Given the description of an element on the screen output the (x, y) to click on. 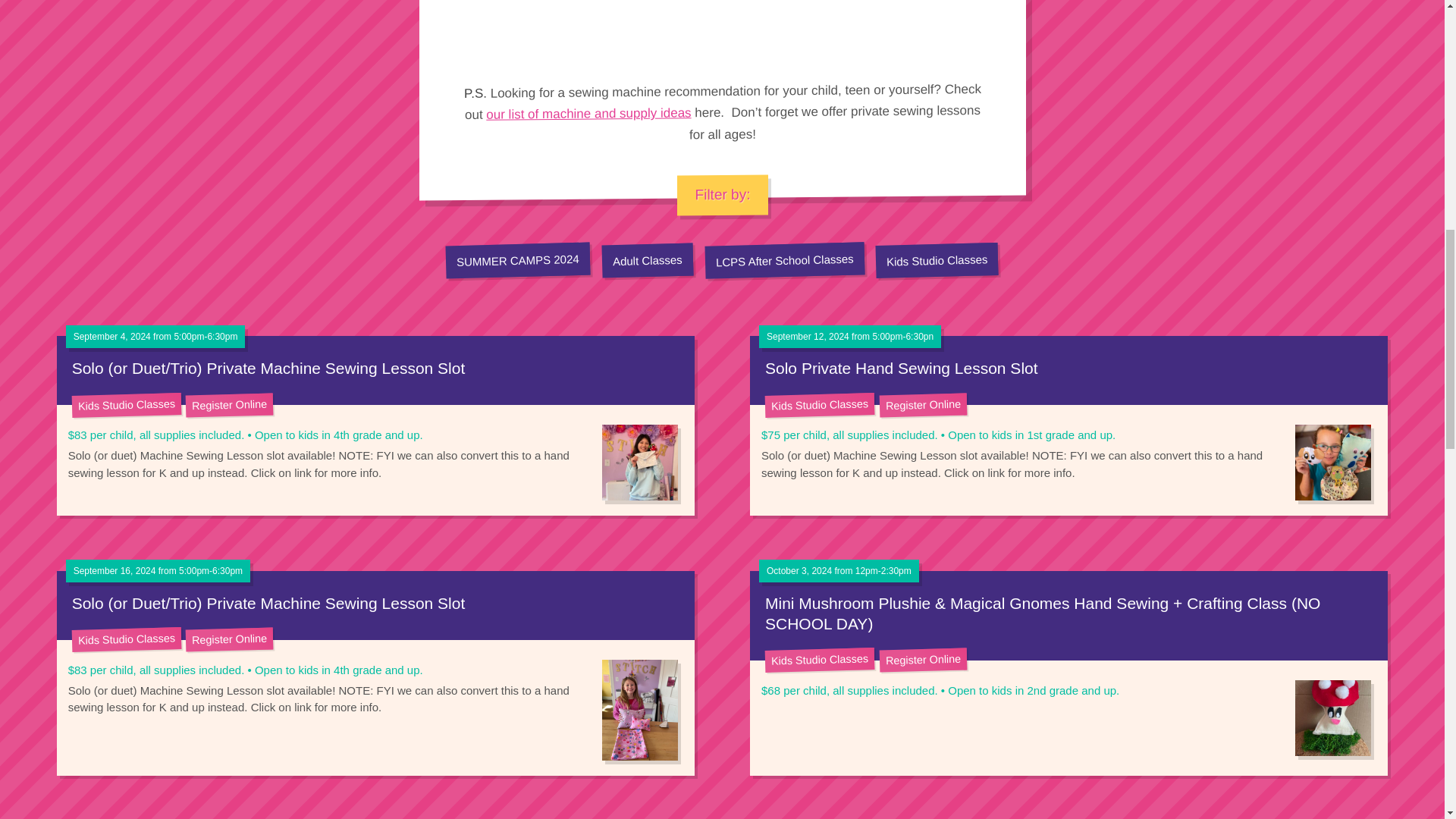
October 3, 2024 from 12pm-2:30pm (839, 570)
September 16, 2024 from 5:00pm-6:30pm (158, 570)
Register Online (229, 403)
Register Online (922, 659)
Kids Studio Classes (125, 638)
our list of machine and supply ideas (588, 113)
Kids Studio Classes (125, 403)
Kids Studio Classes (820, 658)
Register Online (229, 638)
Kids Studio Classes (936, 258)
